Given the description of an element on the screen output the (x, y) to click on. 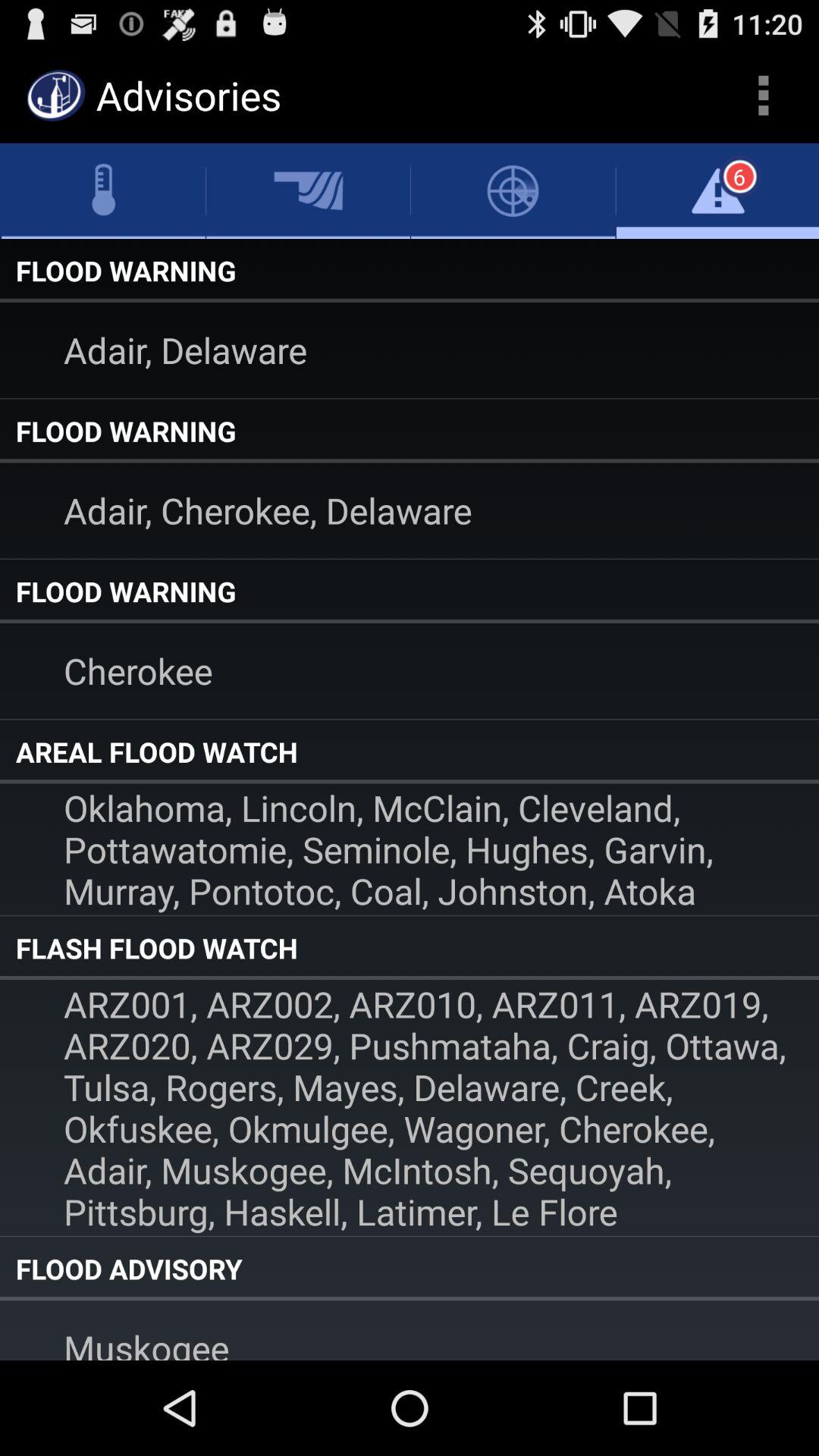
select arz001 arz002 arz010 item (409, 1107)
